Given the description of an element on the screen output the (x, y) to click on. 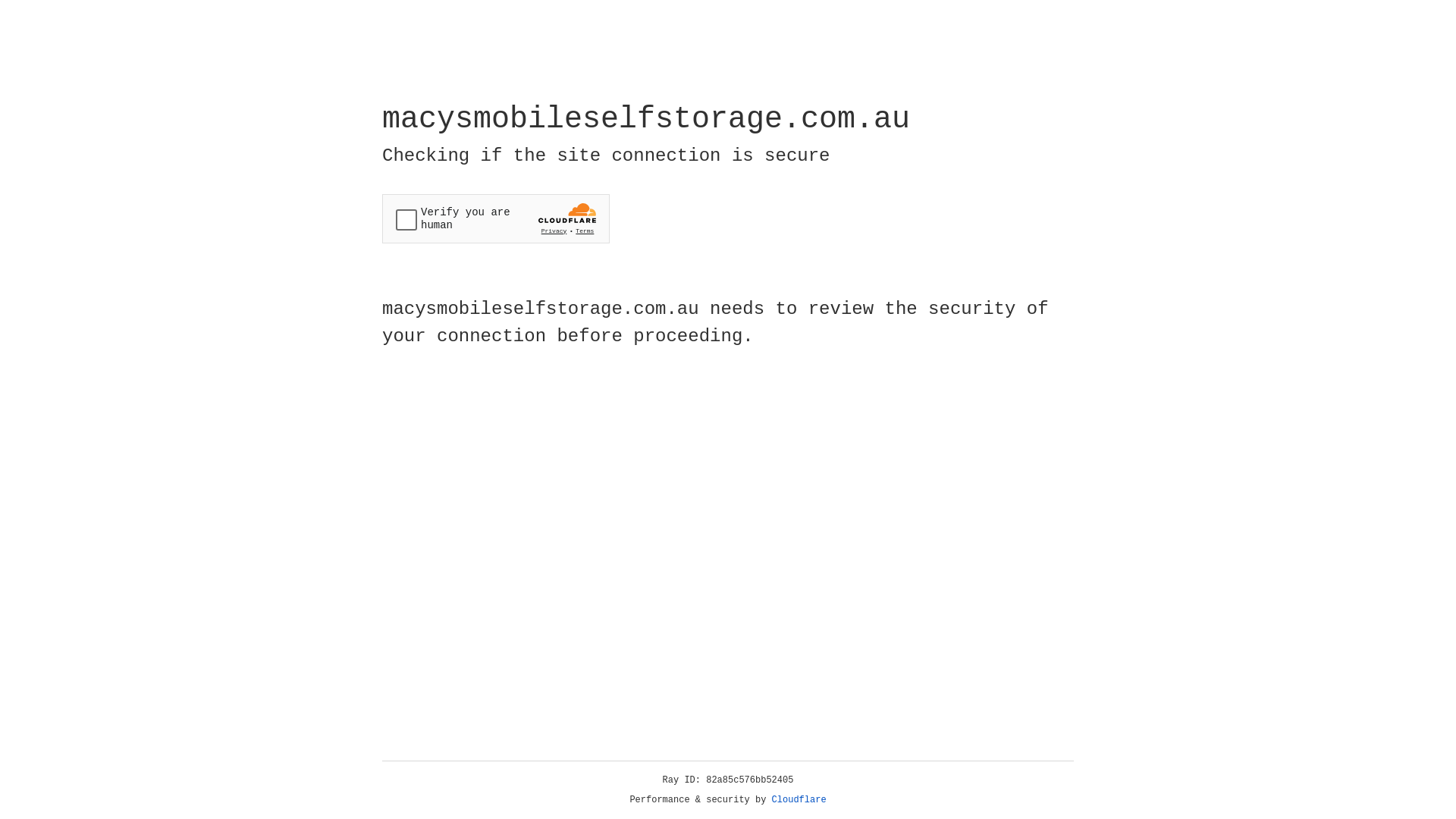
Widget containing a Cloudflare security challenge Element type: hover (495, 218)
Cloudflare Element type: text (798, 799)
